Given the description of an element on the screen output the (x, y) to click on. 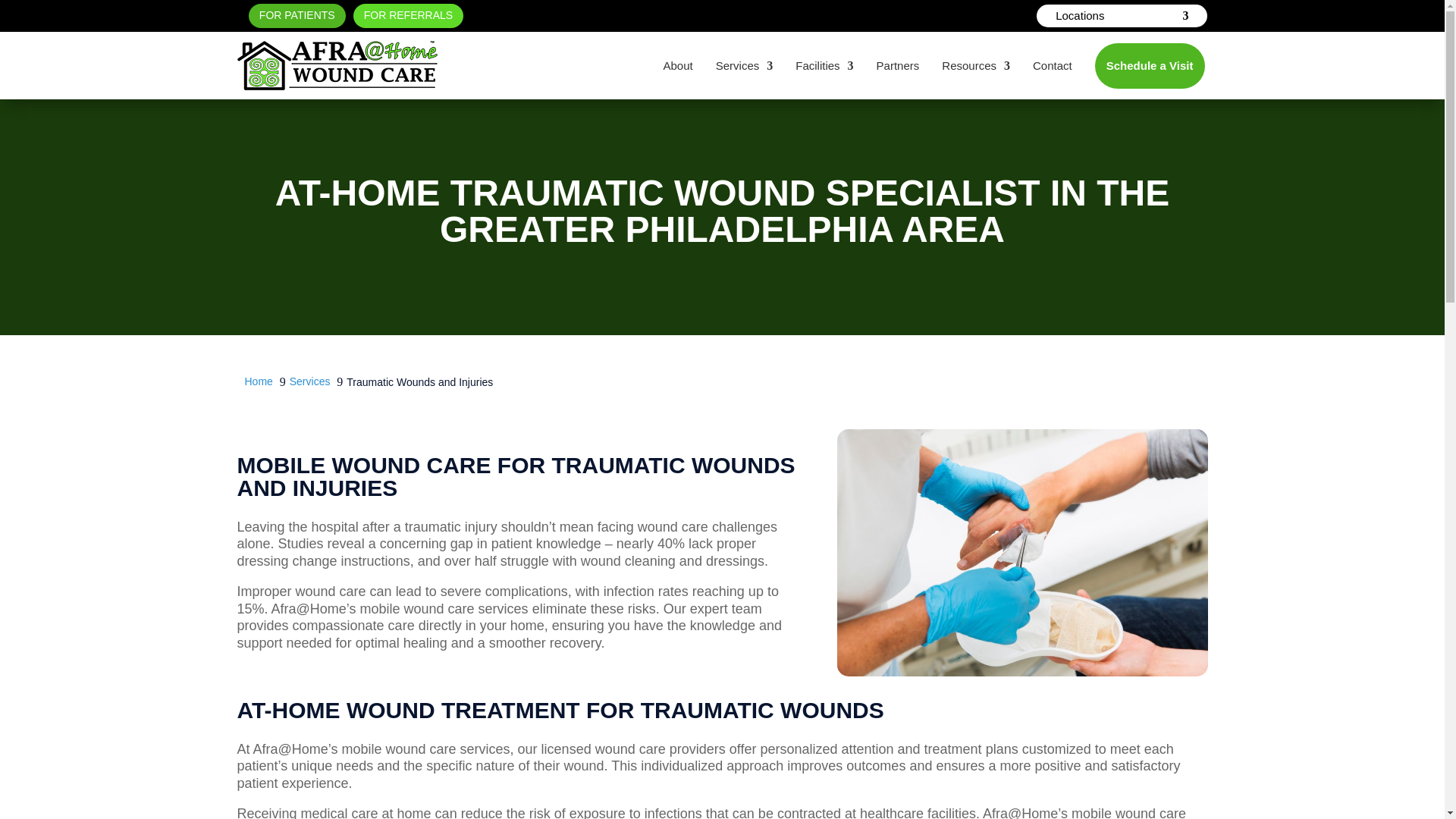
Facilities (823, 65)
Traumatic Wounds and Injuries (1022, 552)
Resources (976, 65)
Services (744, 65)
FOR PATIENTS (297, 15)
Locations (1121, 18)
FOR REFERRALS (408, 15)
